Given the description of an element on the screen output the (x, y) to click on. 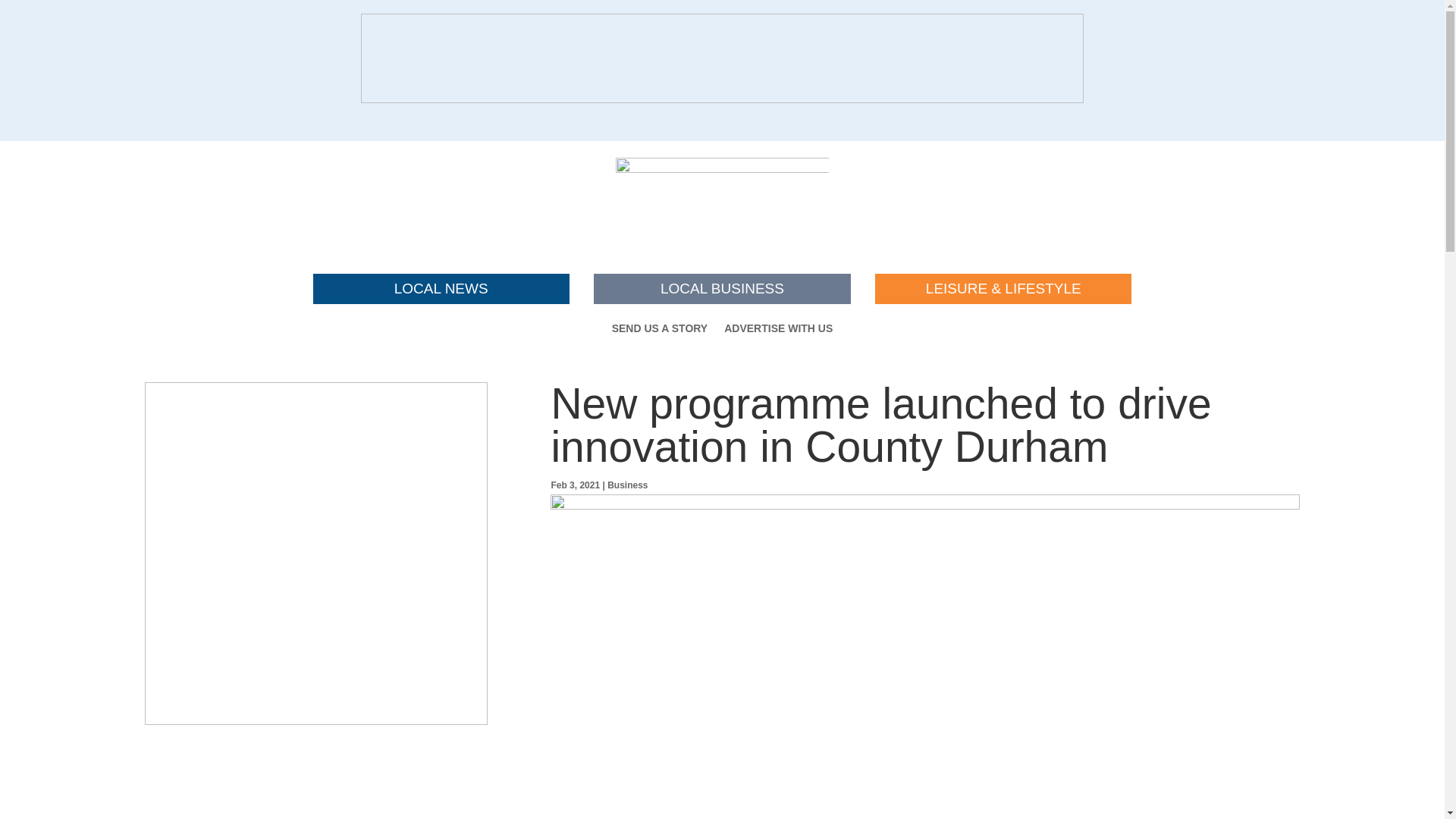
Business (627, 484)
ADVERTISE WITH US (777, 330)
SEND US A STORY (659, 330)
